Given the description of an element on the screen output the (x, y) to click on. 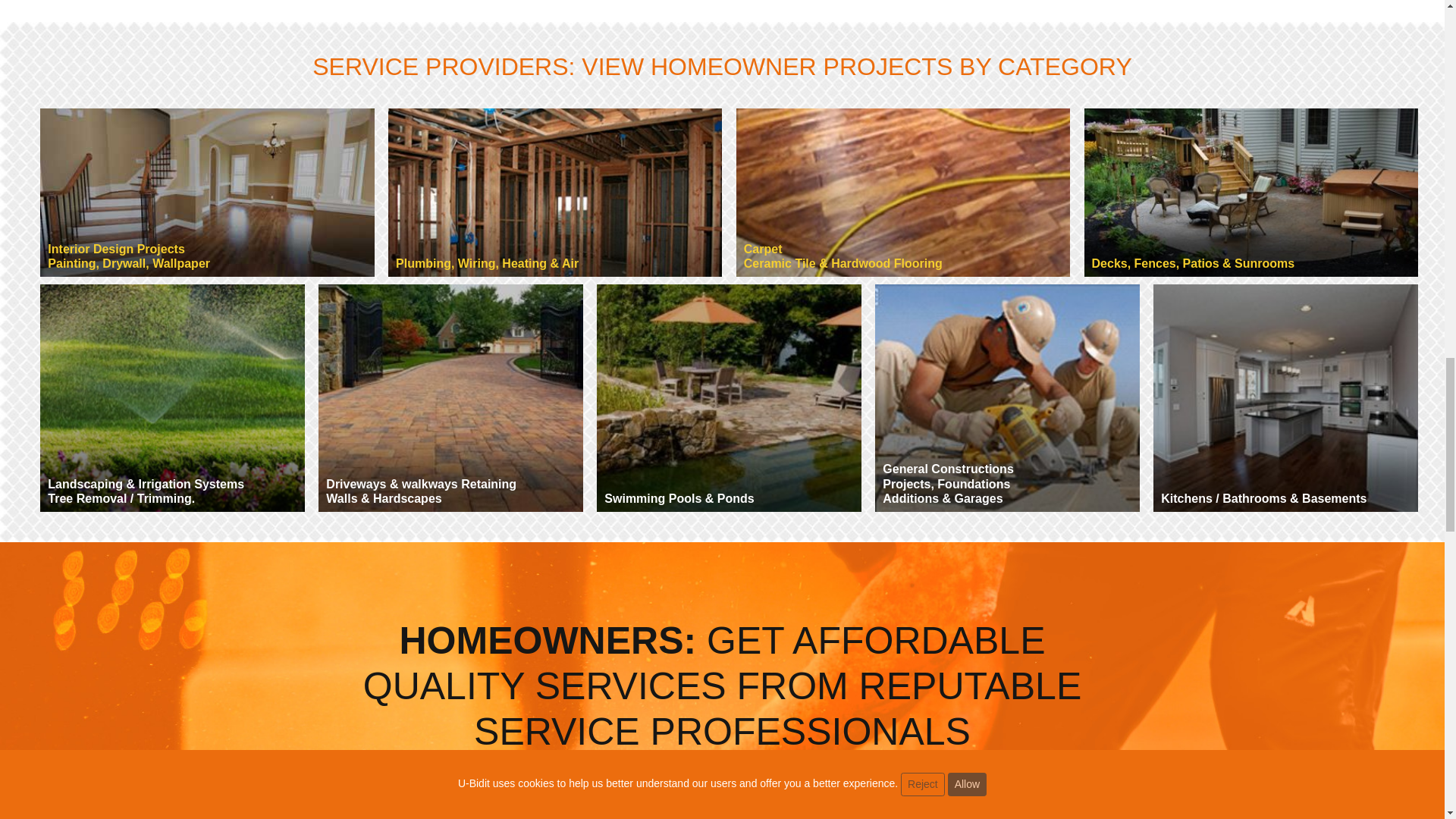
Connect With Pros Directly (625, 799)
Post Your Project (207, 191)
